Given the description of an element on the screen output the (x, y) to click on. 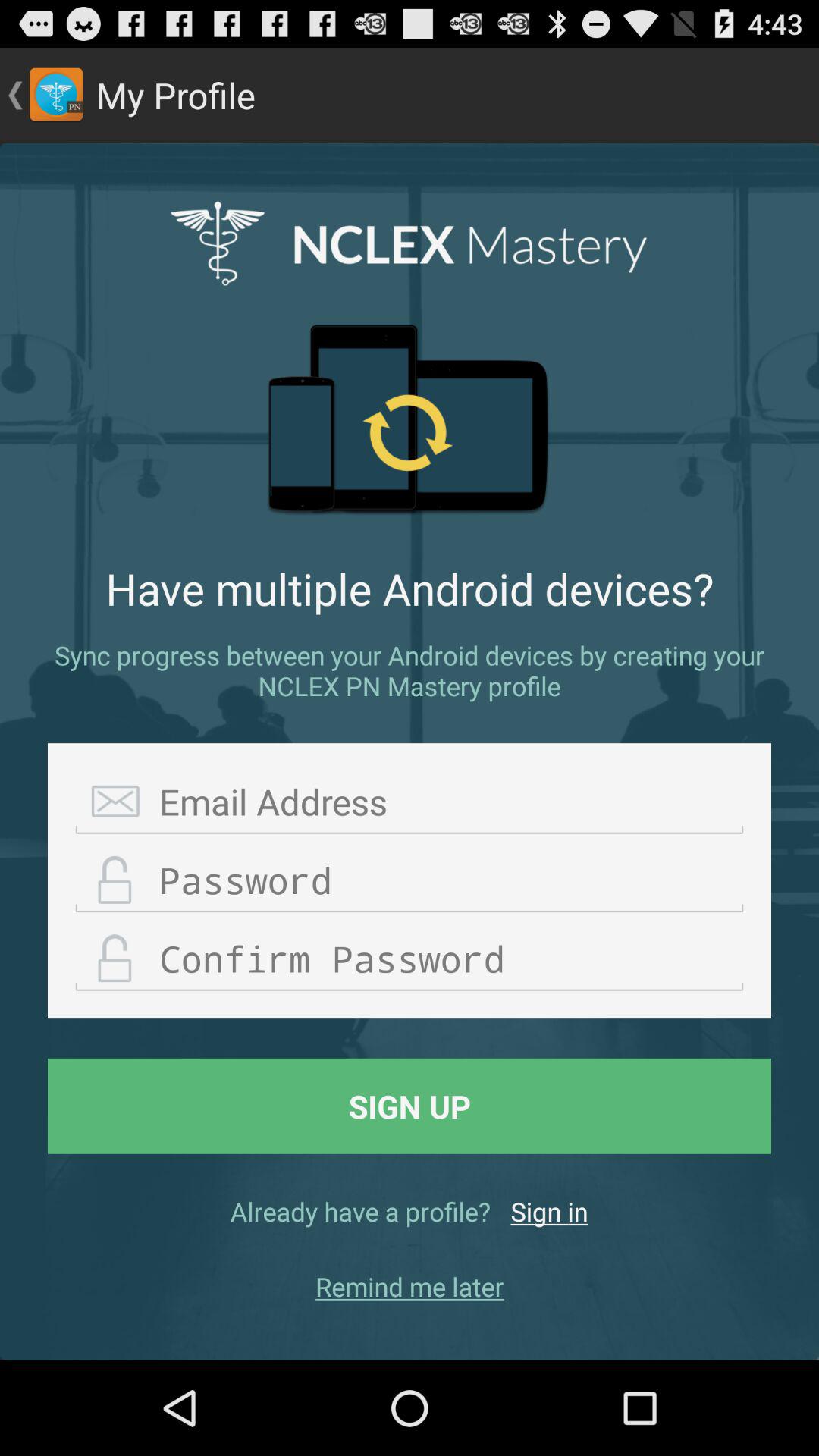
open sign up item (409, 1105)
